Given the description of an element on the screen output the (x, y) to click on. 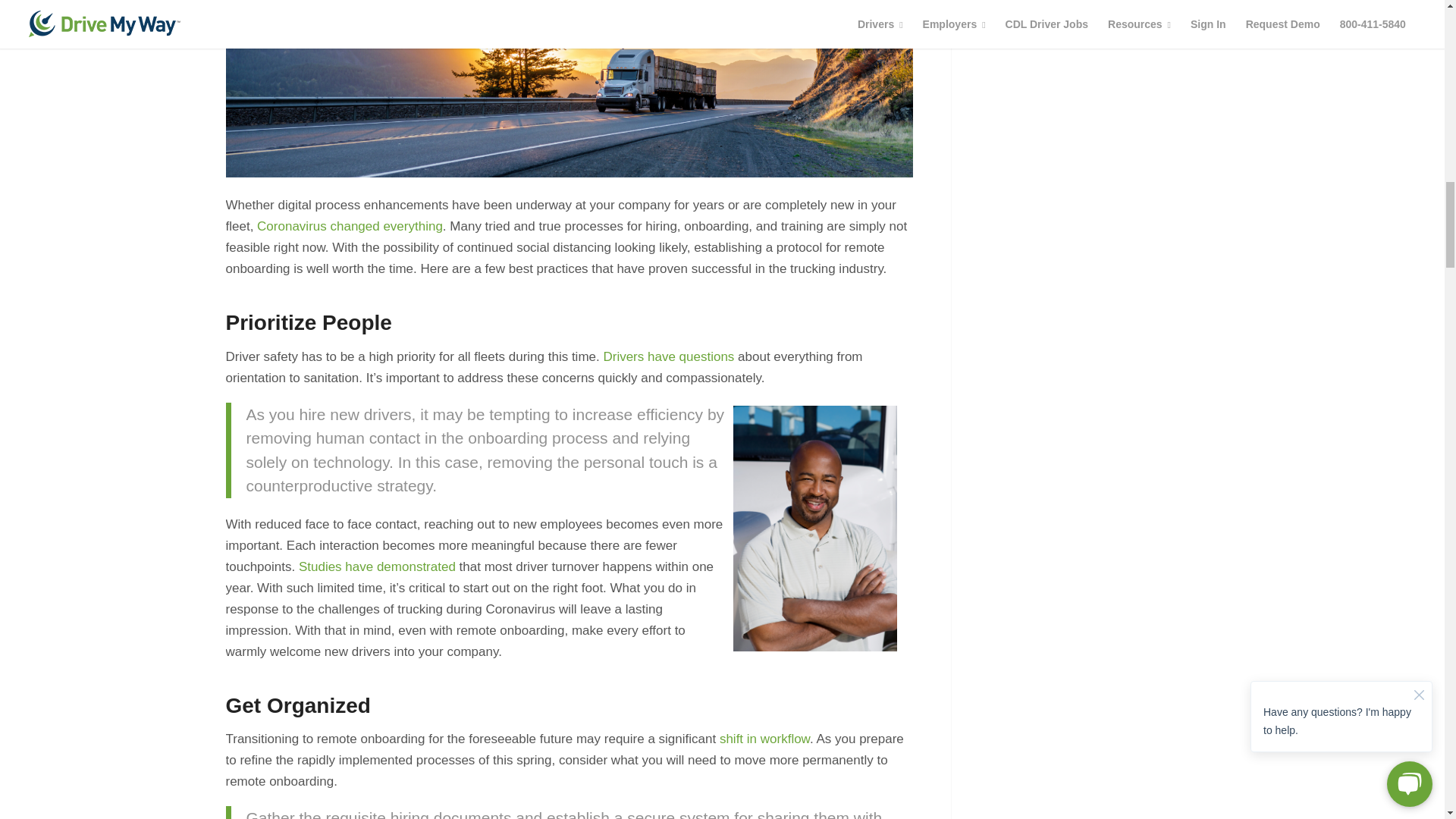
Drivers have questions (667, 356)
Studies have demonstrated (376, 566)
Coronavirus changed everything (349, 226)
shift in workflow (764, 739)
